Given the description of an element on the screen output the (x, y) to click on. 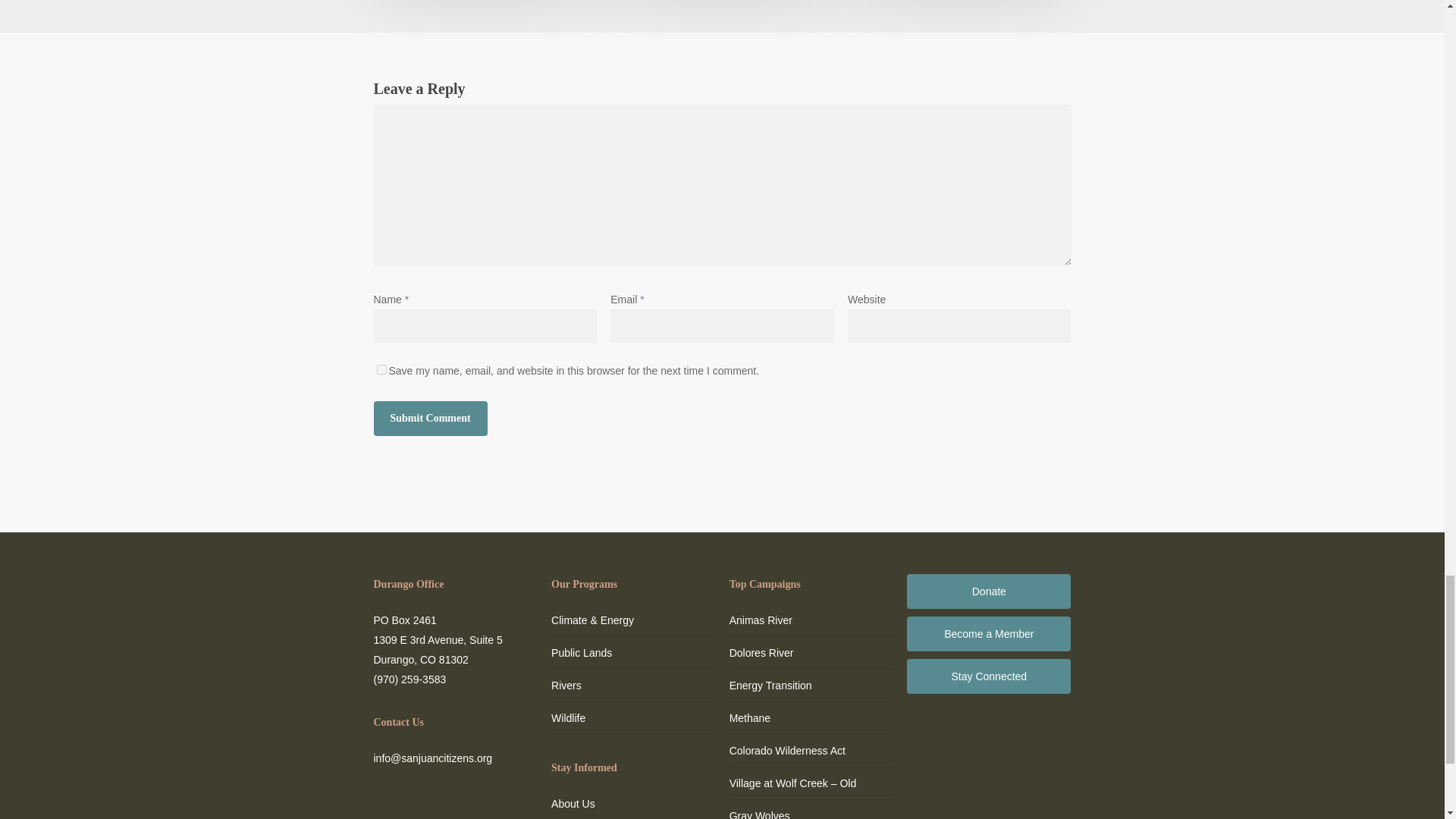
Submit Comment (429, 418)
yes (380, 369)
